Given the description of an element on the screen output the (x, y) to click on. 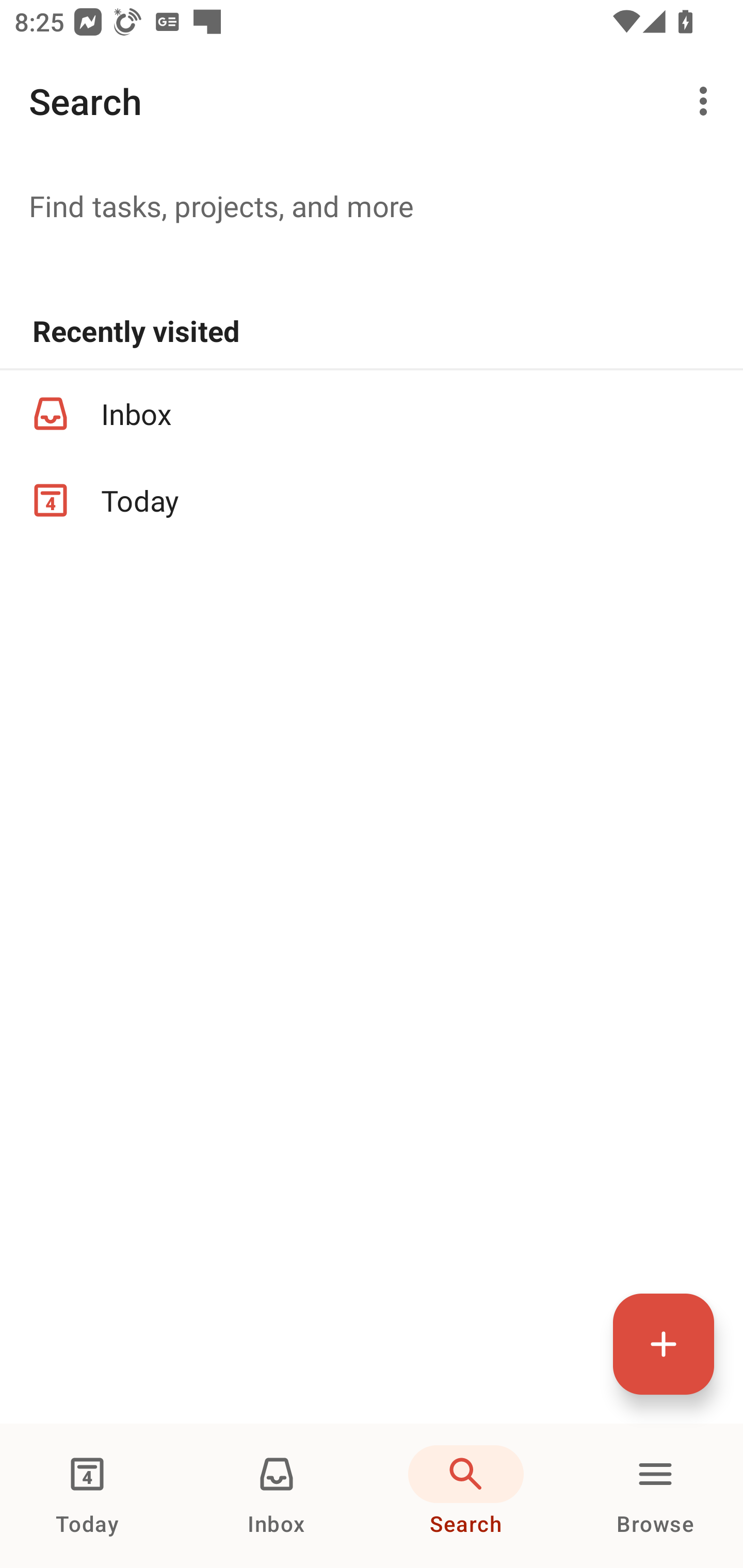
Search More options (371, 100)
More options (706, 101)
Find tasks, projects, and more (371, 205)
Inbox (371, 413)
Today (371, 500)
Quick add (663, 1343)
Today (87, 1495)
Inbox (276, 1495)
Browse (655, 1495)
